Given the description of an element on the screen output the (x, y) to click on. 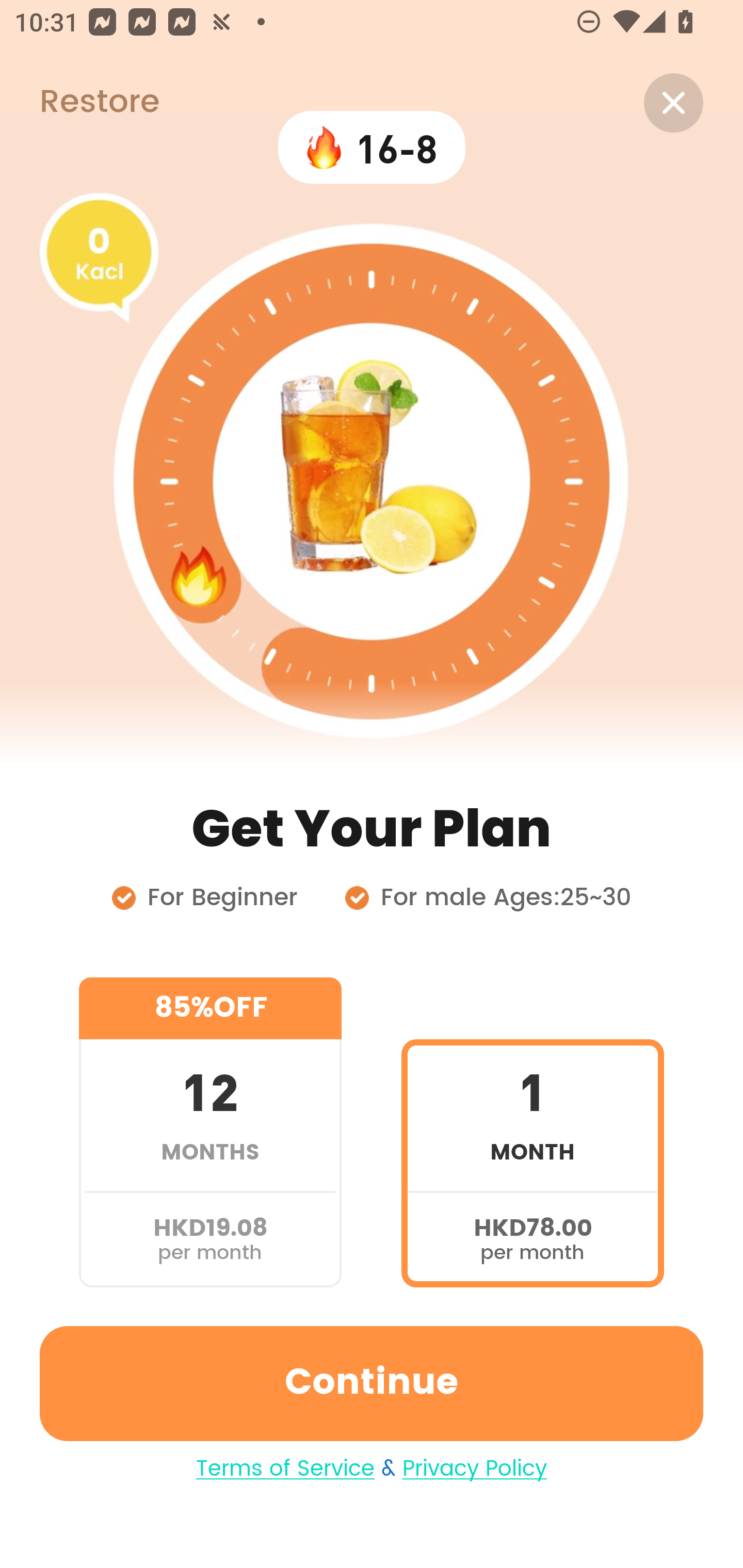
Restore (79, 102)
85%OFF 12 MONTHS per month HKD19.08 (209, 1131)
1 MONTH per month HKD78.00 (532, 1131)
Continue (371, 1383)
